Given the description of an element on the screen output the (x, y) to click on. 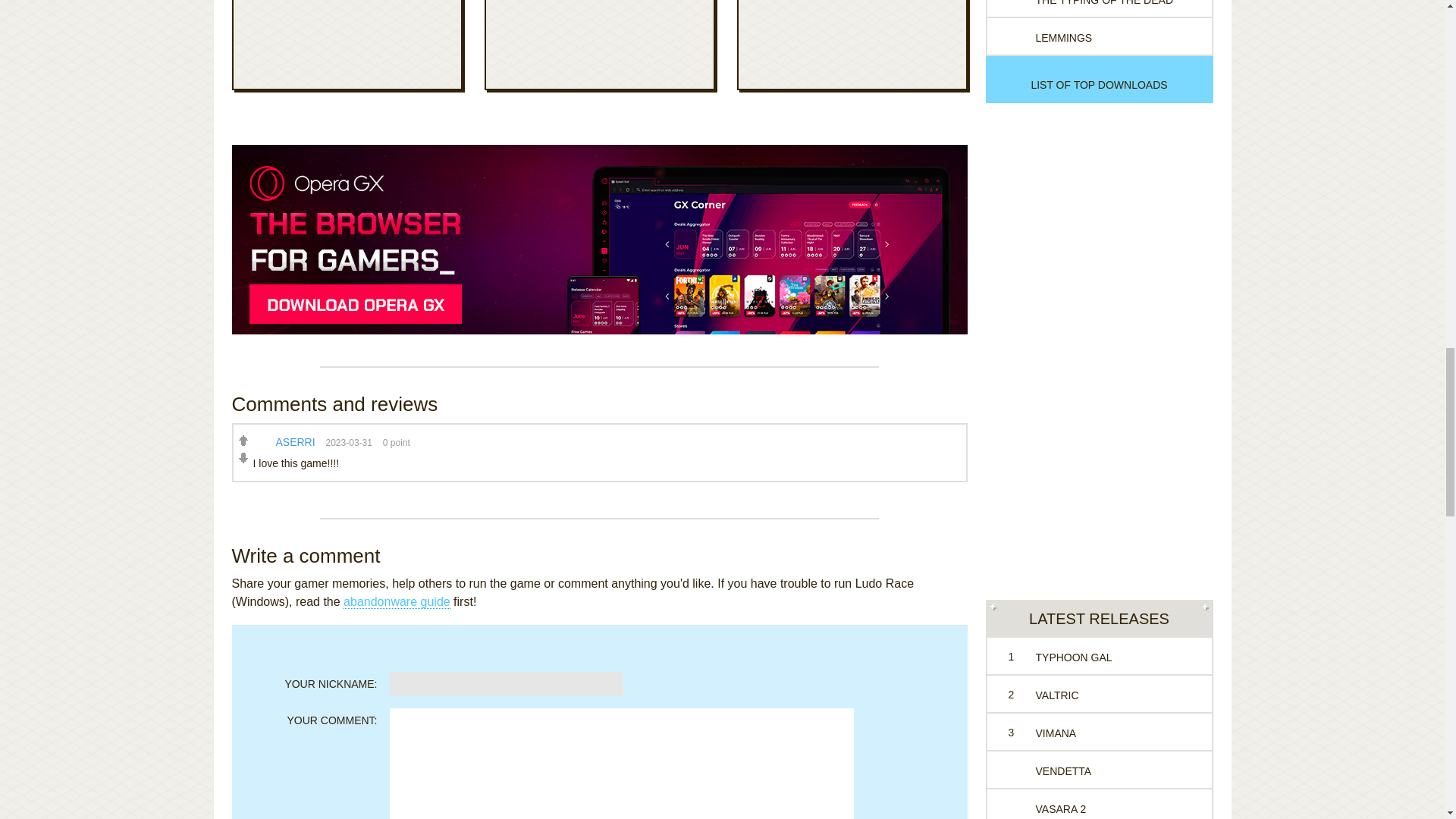
See the Top 40 Games (1098, 84)
